Given the description of an element on the screen output the (x, y) to click on. 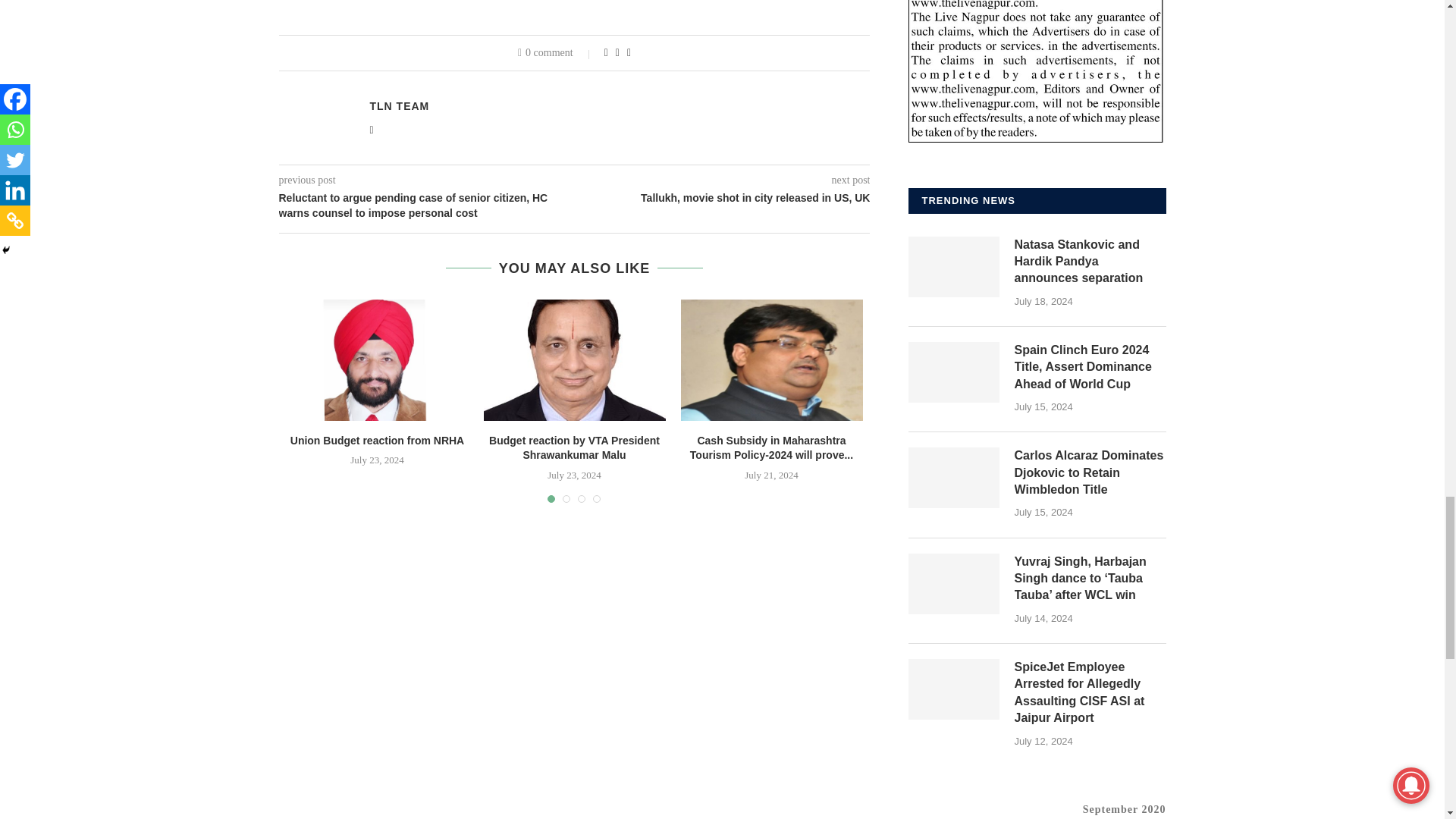
Budget reaction by VTA President Shrawankumar Malu (574, 359)
Posts by TLN Team (399, 105)
Union Budget reaction from NRHA (377, 359)
